Given the description of an element on the screen output the (x, y) to click on. 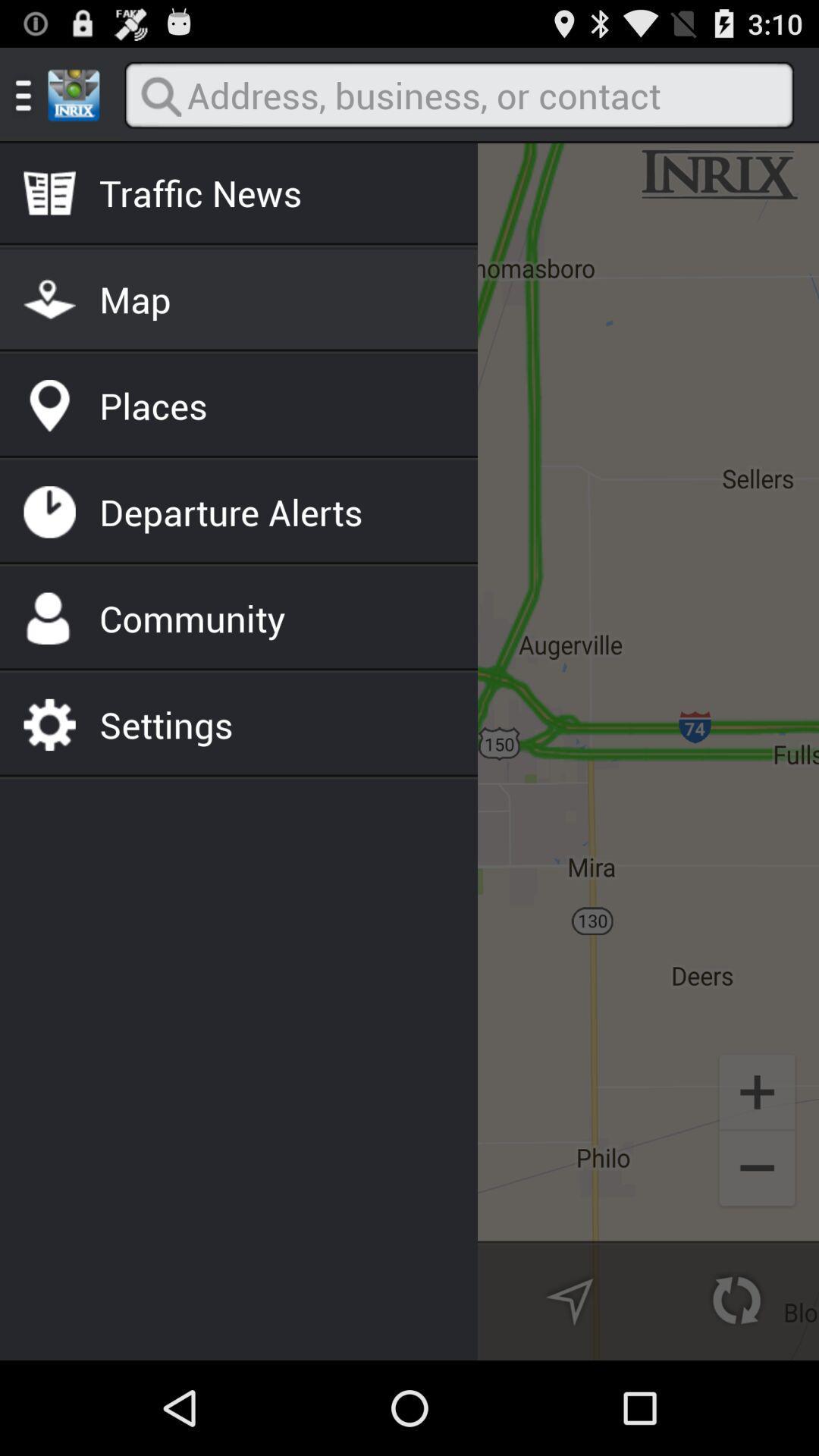
address bar (459, 94)
